Given the description of an element on the screen output the (x, y) to click on. 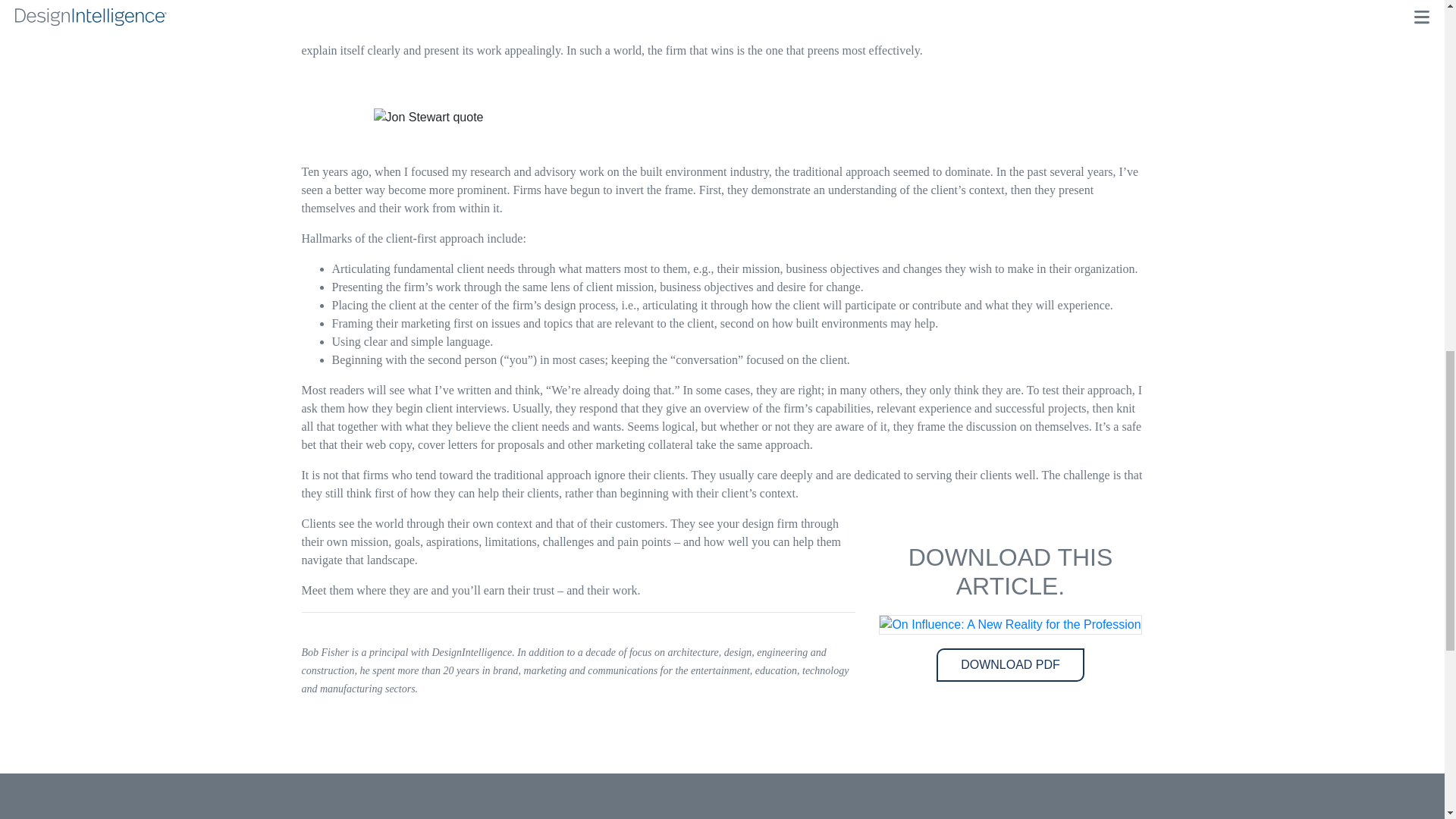
DOWNLOAD PDF (1010, 664)
DOWNLOAD PDF (1010, 664)
